Given the description of an element on the screen output the (x, y) to click on. 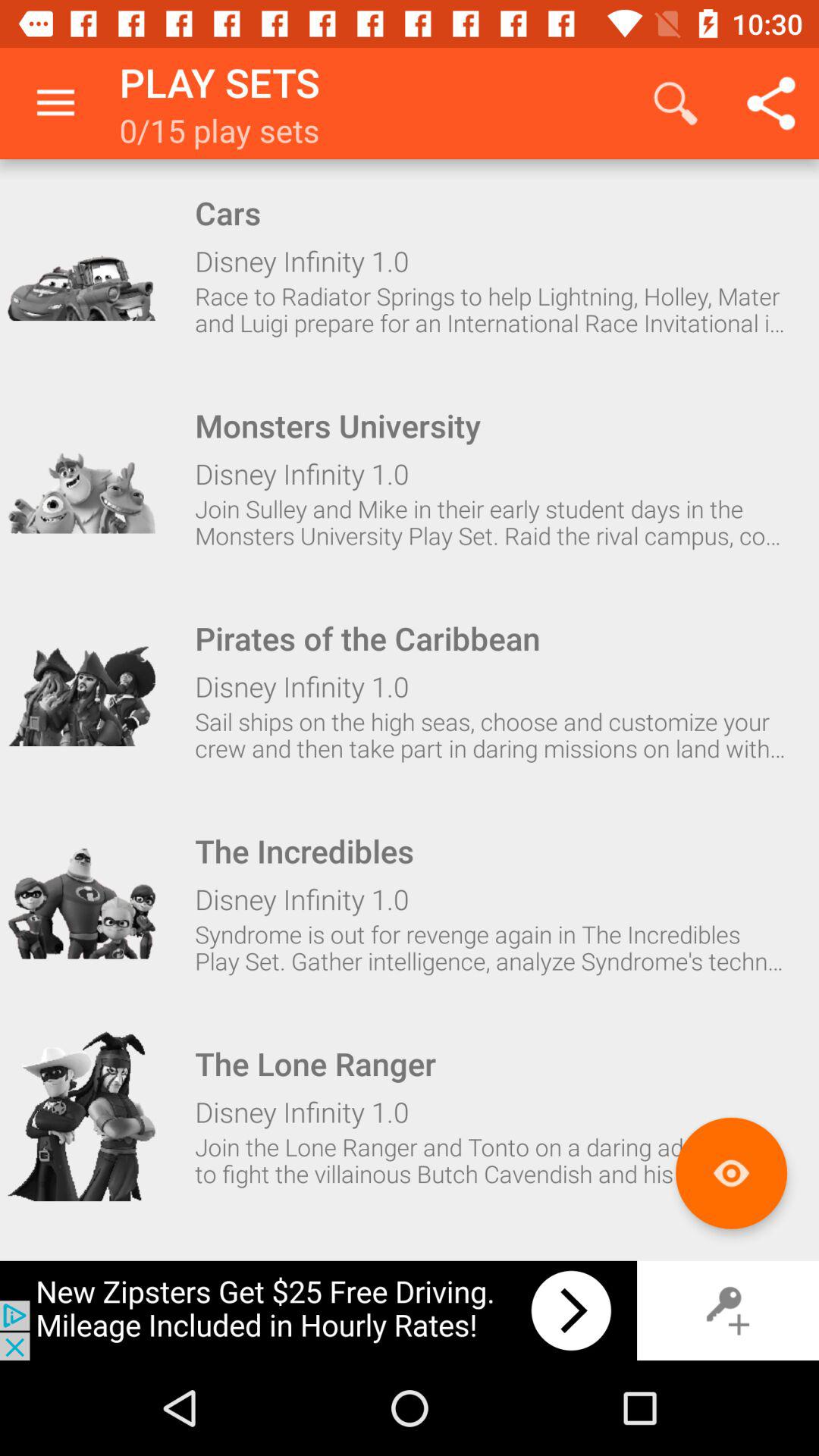
play the incredibles set (81, 903)
